Given the description of an element on the screen output the (x, y) to click on. 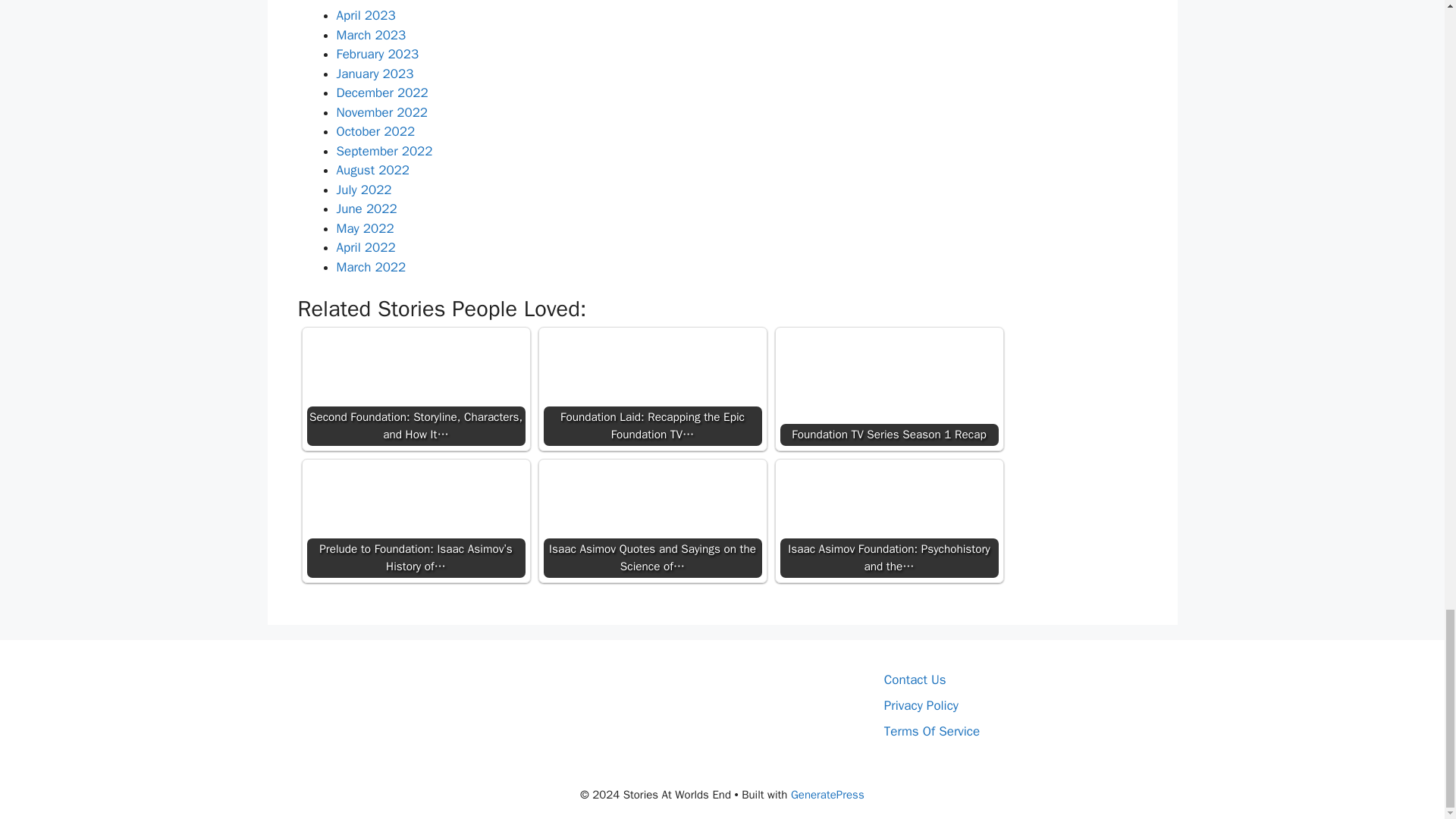
September 2022 (384, 150)
December 2022 (382, 92)
May 2022 (365, 228)
July 2022 (363, 189)
March 2022 (371, 267)
Foundation TV Series Season 1 Recap (887, 388)
April 2022 (366, 247)
